Given the description of an element on the screen output the (x, y) to click on. 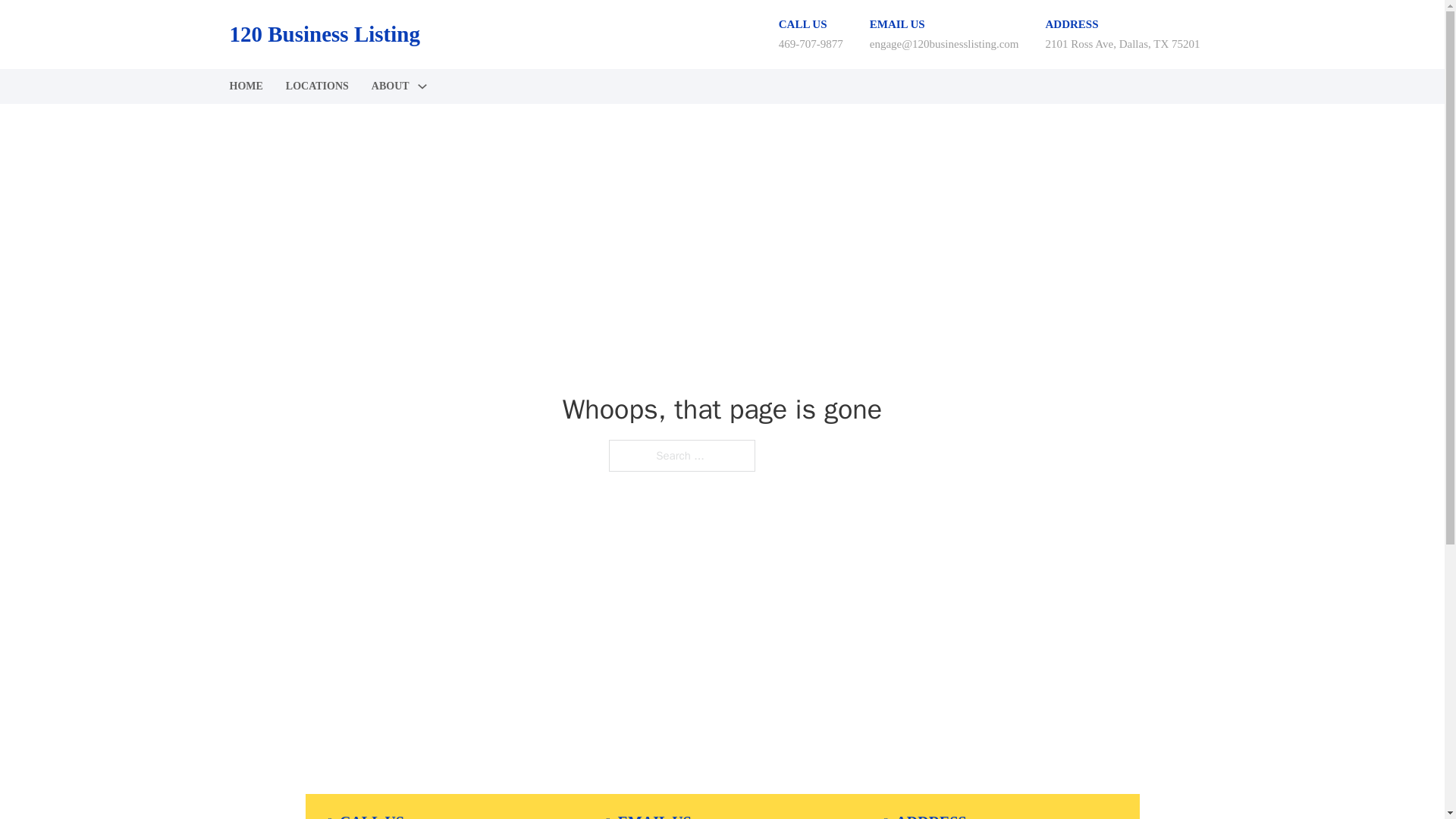
469-707-9877 (810, 43)
120 Business Listing (323, 34)
HOME (245, 85)
LOCATIONS (317, 85)
